Given the description of an element on the screen output the (x, y) to click on. 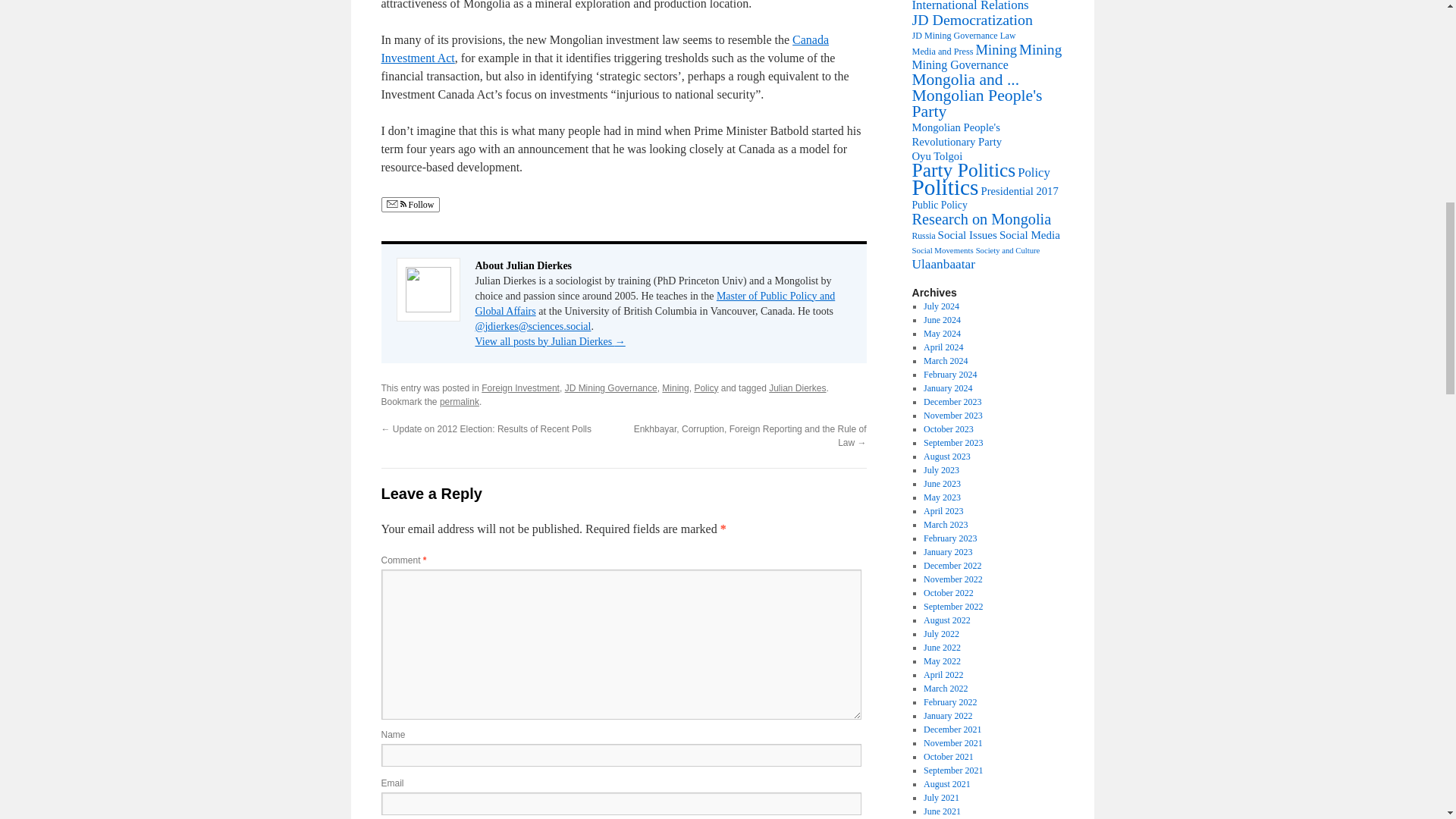
Canada Investment Act (604, 48)
Follow (409, 204)
Foreign Investment (520, 388)
Master of Public Policy and Global Affairs (654, 303)
Email, RSS (396, 204)
